Given the description of an element on the screen output the (x, y) to click on. 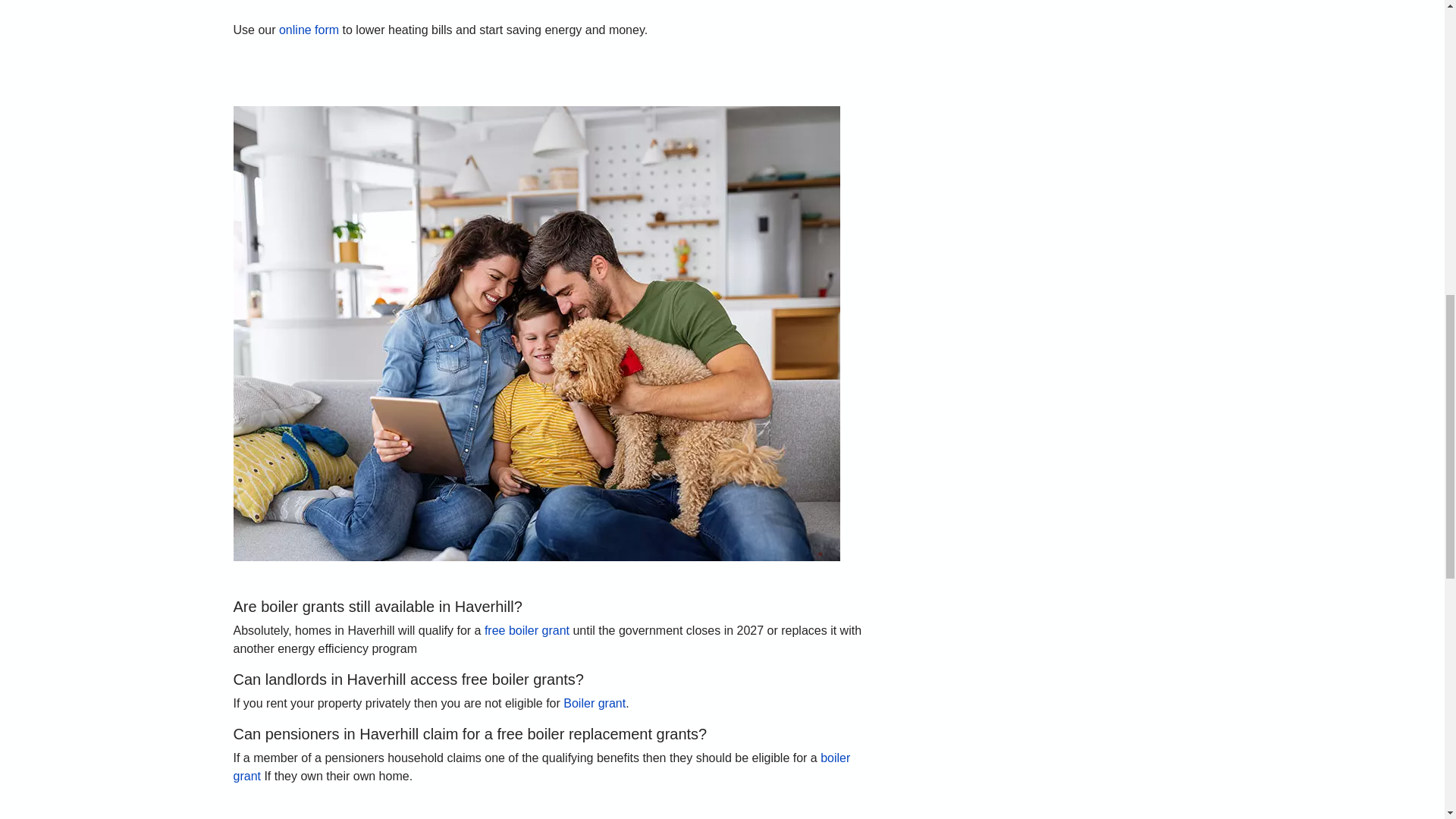
boiler grant (541, 766)
free boiler grant (526, 630)
online form (309, 29)
Boiler grant (594, 703)
